Given the description of an element on the screen output the (x, y) to click on. 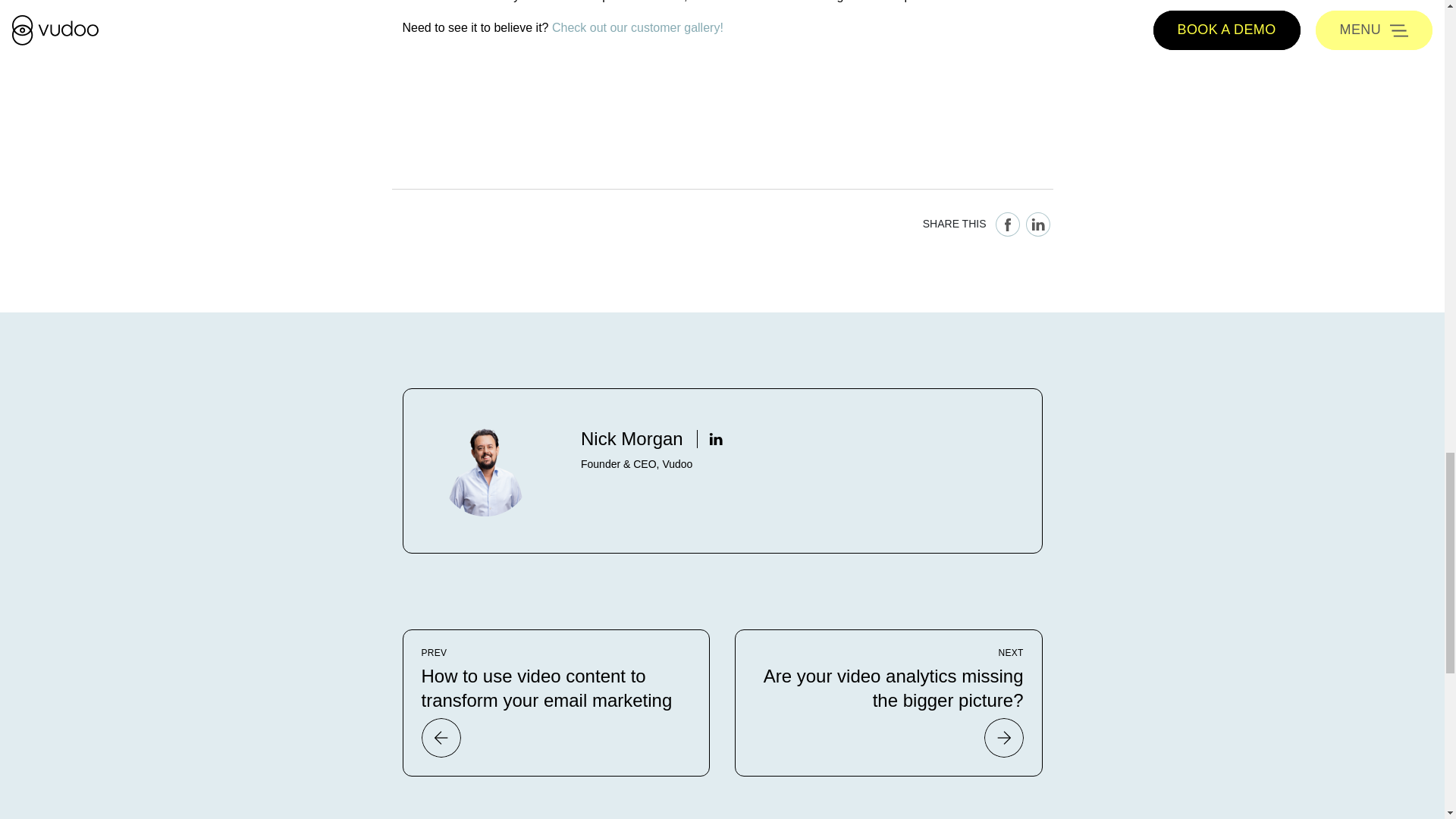
Customer Gallery (637, 27)
Check out our customer gallery! (637, 27)
